Given the description of an element on the screen output the (x, y) to click on. 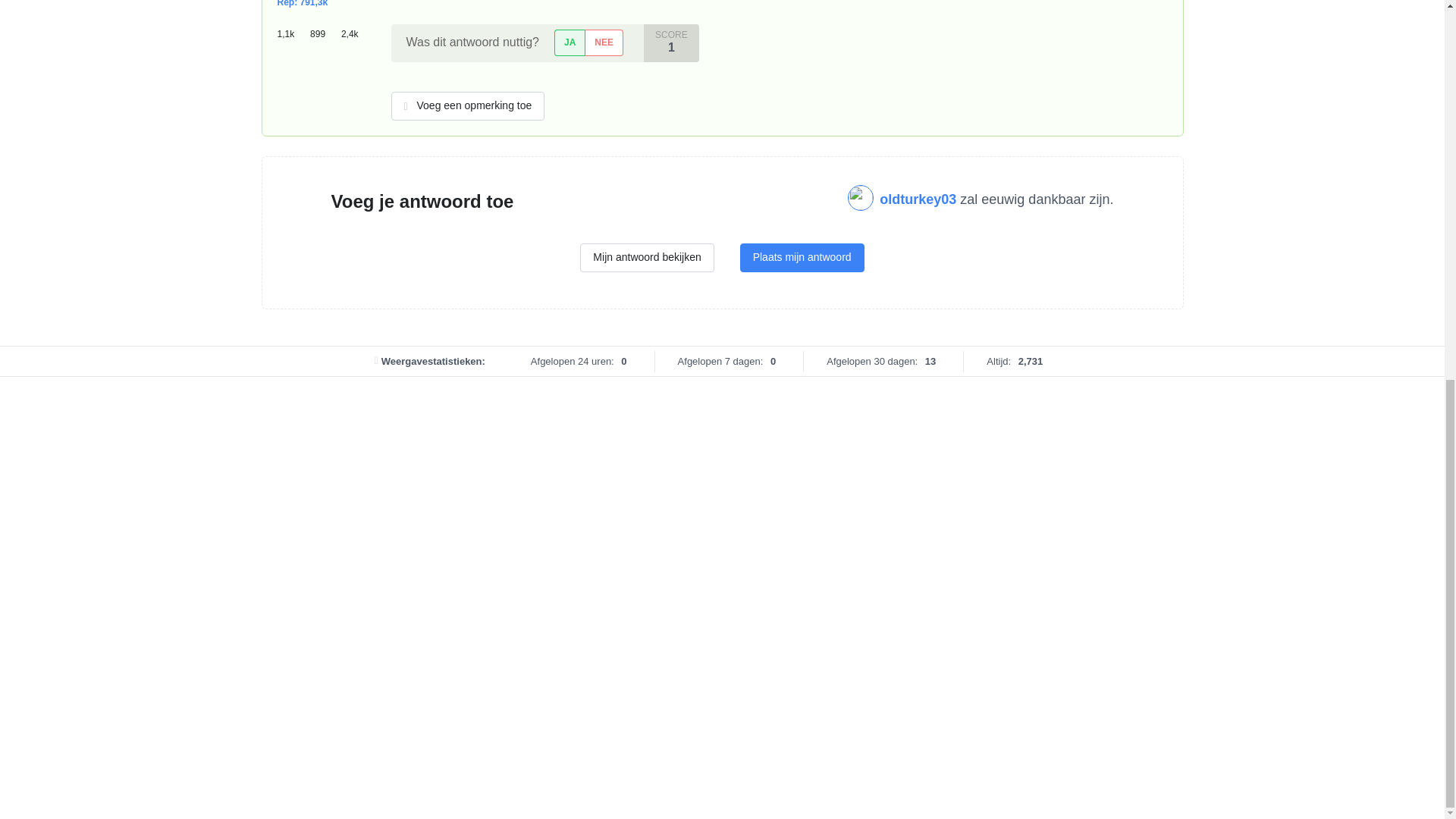
1154 Brons badges (294, 27)
2405 Goud badges (354, 27)
1,1k 899 2,4k (323, 27)
899 Zilver badges (325, 27)
